Given the description of an element on the screen output the (x, y) to click on. 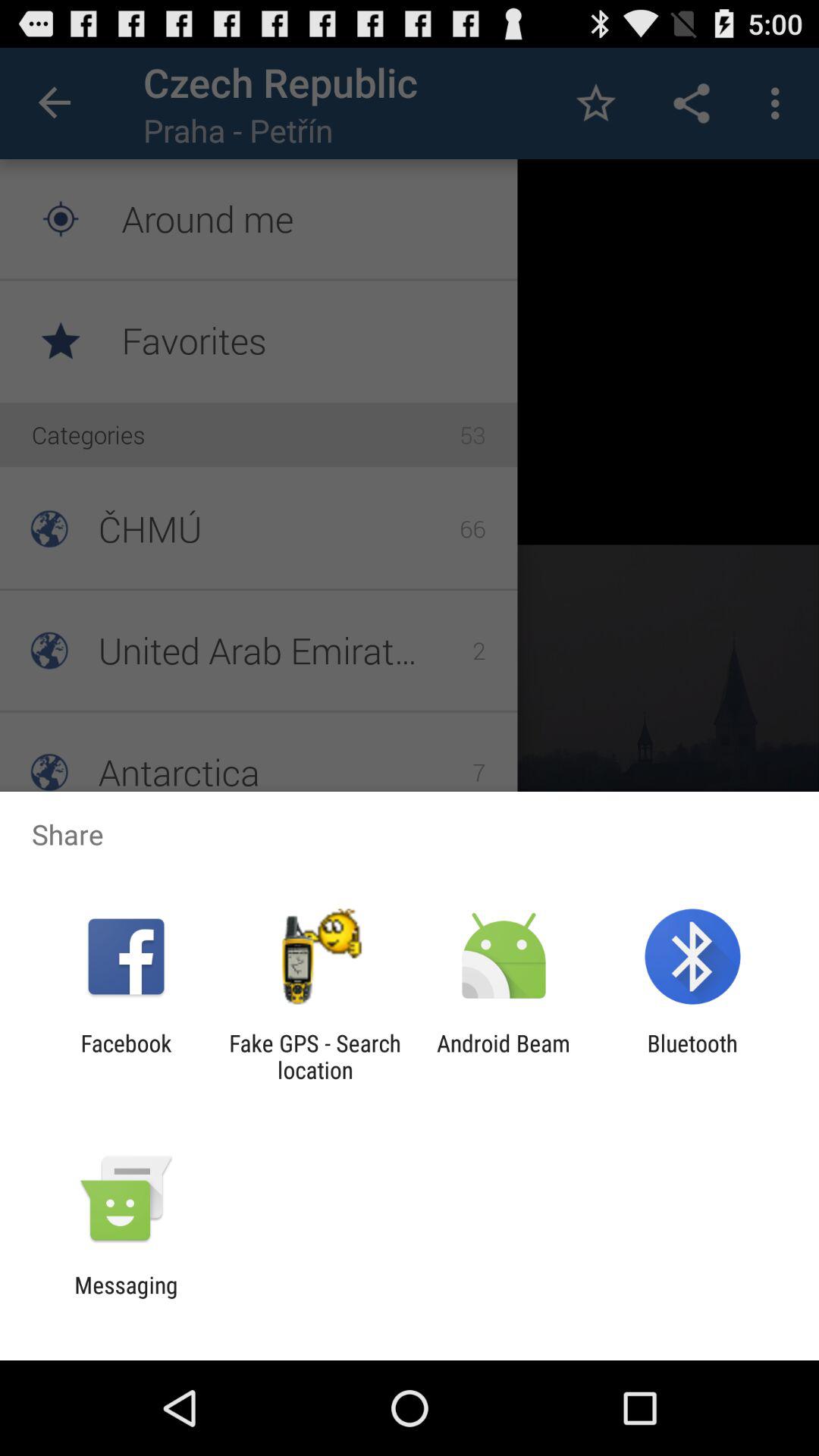
click the item at the bottom right corner (692, 1056)
